Given the description of an element on the screen output the (x, y) to click on. 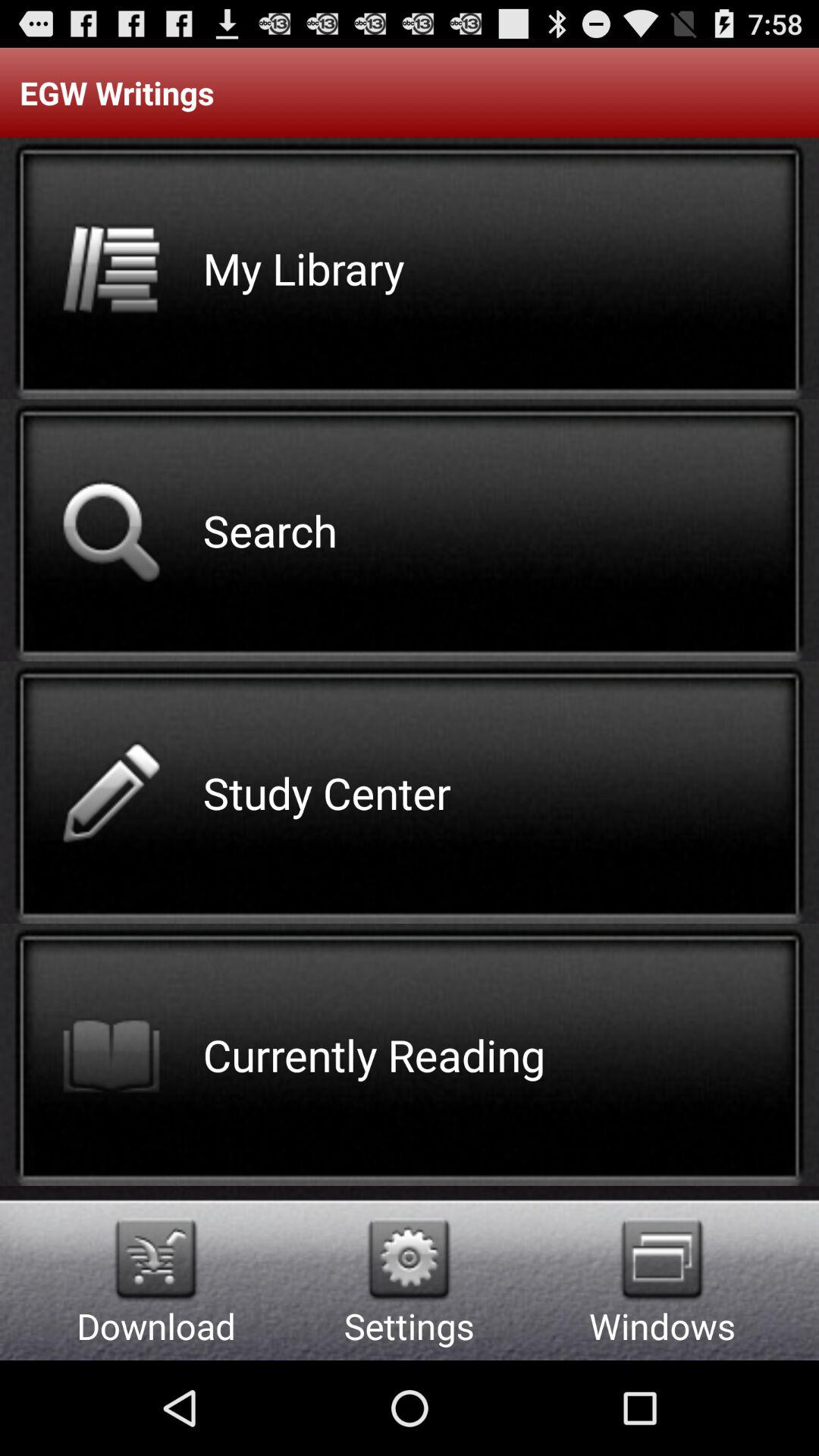
select the icon to the left of the windows icon (409, 1258)
